Given the description of an element on the screen output the (x, y) to click on. 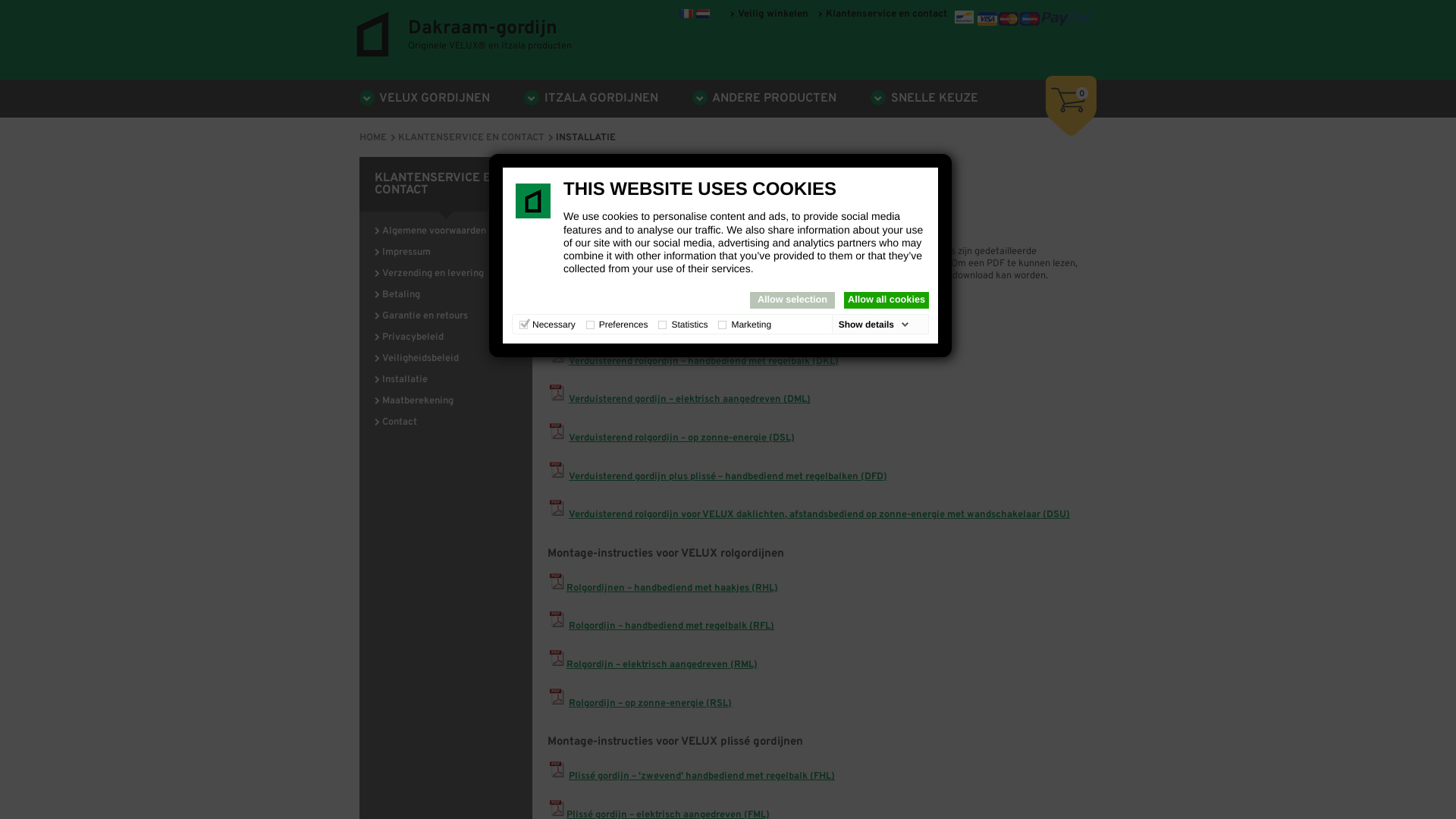
Impressum Element type: text (406, 252)
Allow selection Element type: text (791, 299)
ITZALA GORDIJNEN Element type: text (591, 98)
Privacybeleid Element type: text (412, 337)
Show details Element type: text (873, 324)
Maatberekening Element type: text (417, 401)
www.dakraam-gordijn.be Element type: hover (685, 13)
Algemene voorwaarden Element type: text (434, 231)
Klantenservice en contact Element type: text (882, 13)
SNELLE KEUZE Element type: text (924, 98)
Contact Element type: text (399, 422)
Betaling Element type: text (401, 294)
Veiligheidsbeleid Element type: text (420, 358)
Garantie en retours Element type: text (424, 316)
VELUX GORDIJNEN Element type: text (424, 98)
0 Element type: text (1070, 105)
www.dakraam-gordijn.be Element type: hover (702, 13)
KLANTENSERVICE EN CONTACT Element type: text (475, 137)
Allow all cookies Element type: text (886, 299)
HOME Element type: text (377, 137)
Adobe Element type: text (925, 275)
ANDERE PRODUCTEN Element type: text (764, 98)
Installatie Element type: text (404, 379)
Veilig winkelen Element type: text (769, 13)
Verzending en levering Element type: text (432, 273)
